Given the description of an element on the screen output the (x, y) to click on. 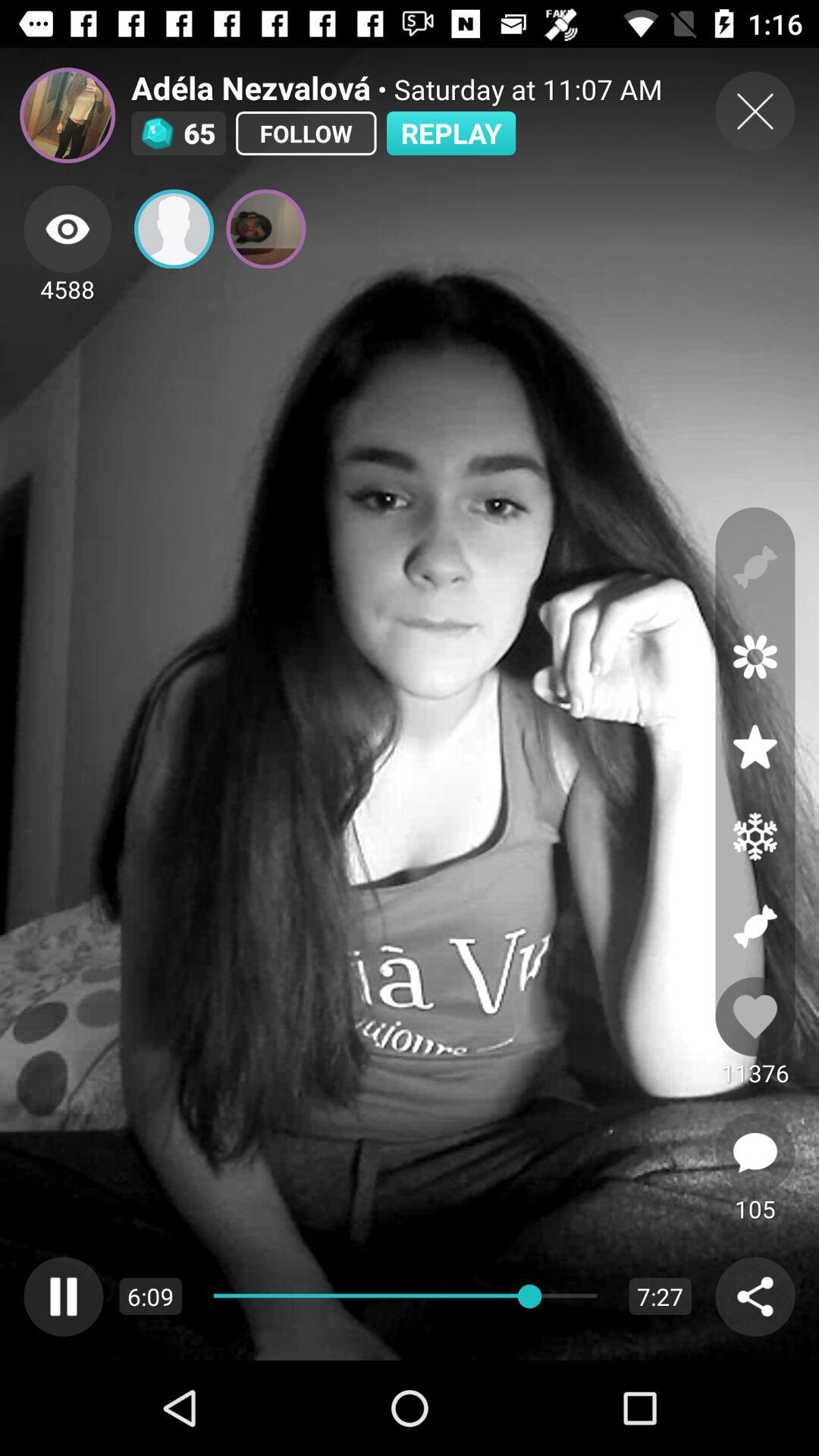
show flower overlay (755, 656)
